Given the description of an element on the screen output the (x, y) to click on. 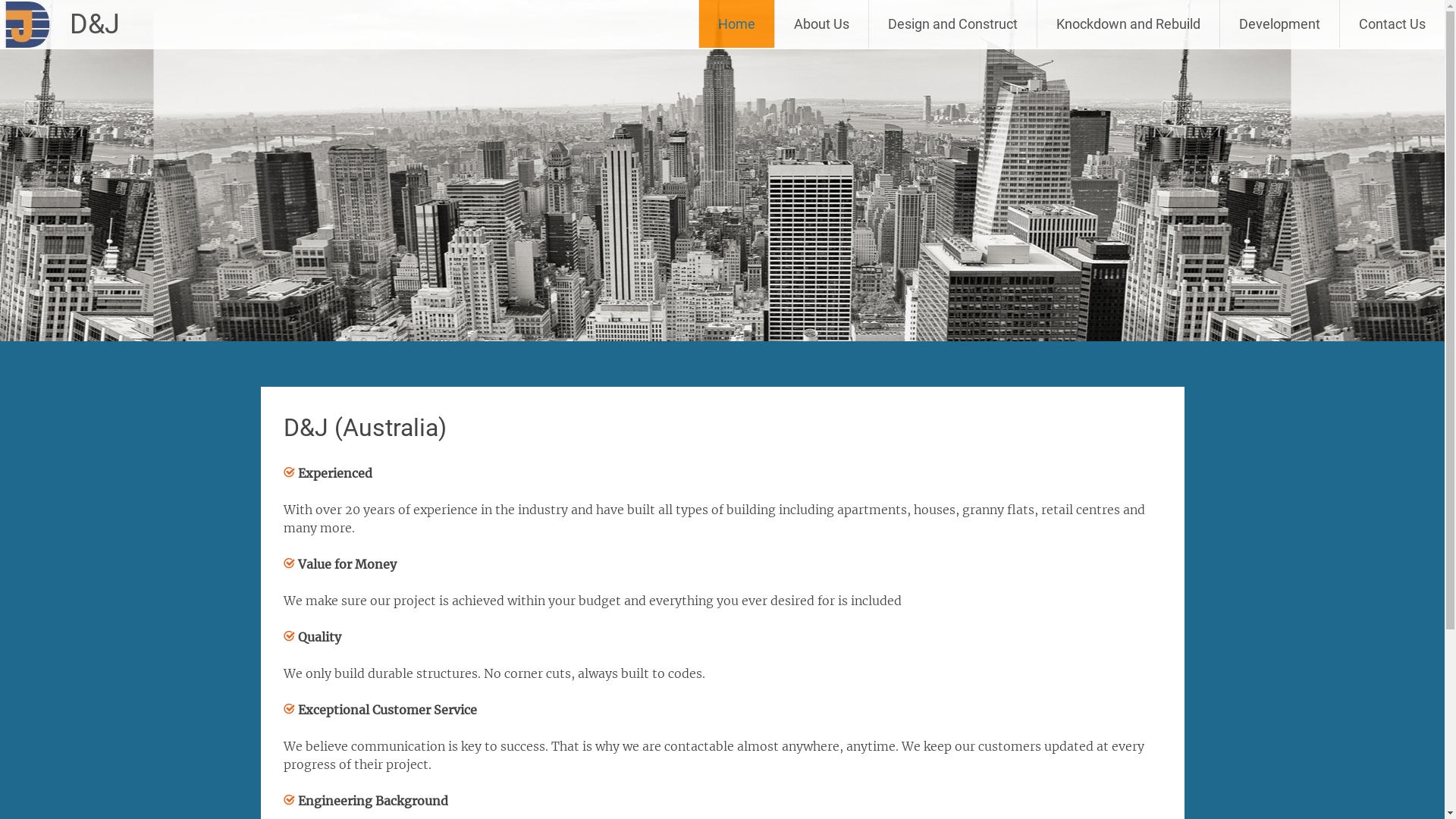
Development Element type: text (1279, 23)
D&J Element type: text (94, 24)
Design and Construct Element type: text (952, 23)
Skip to content Element type: text (757, 9)
Contact Us Element type: text (1391, 23)
Knockdown and Rebuild Element type: text (1128, 23)
About Us Element type: text (821, 23)
Home Element type: text (736, 23)
D&J (Australia) Element type: text (364, 427)
